Given the description of an element on the screen output the (x, y) to click on. 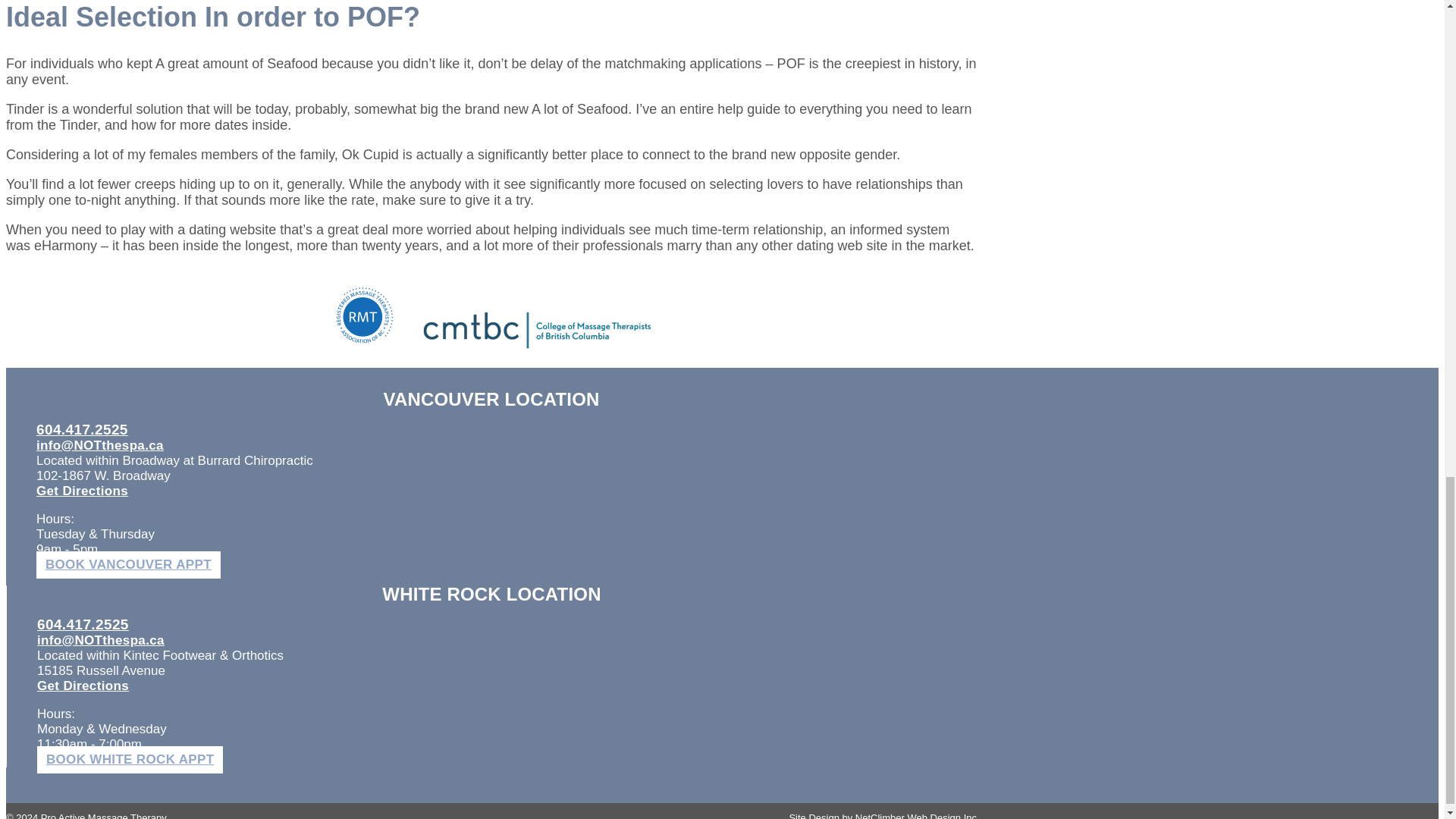
BOOK VANCOUVER APPT (128, 564)
604.417.2525 (83, 624)
Get Directions (83, 685)
BOOK WHITE ROCK APPT (129, 759)
Get Directions (82, 490)
604.417.2525 (82, 429)
